Given the description of an element on the screen output the (x, y) to click on. 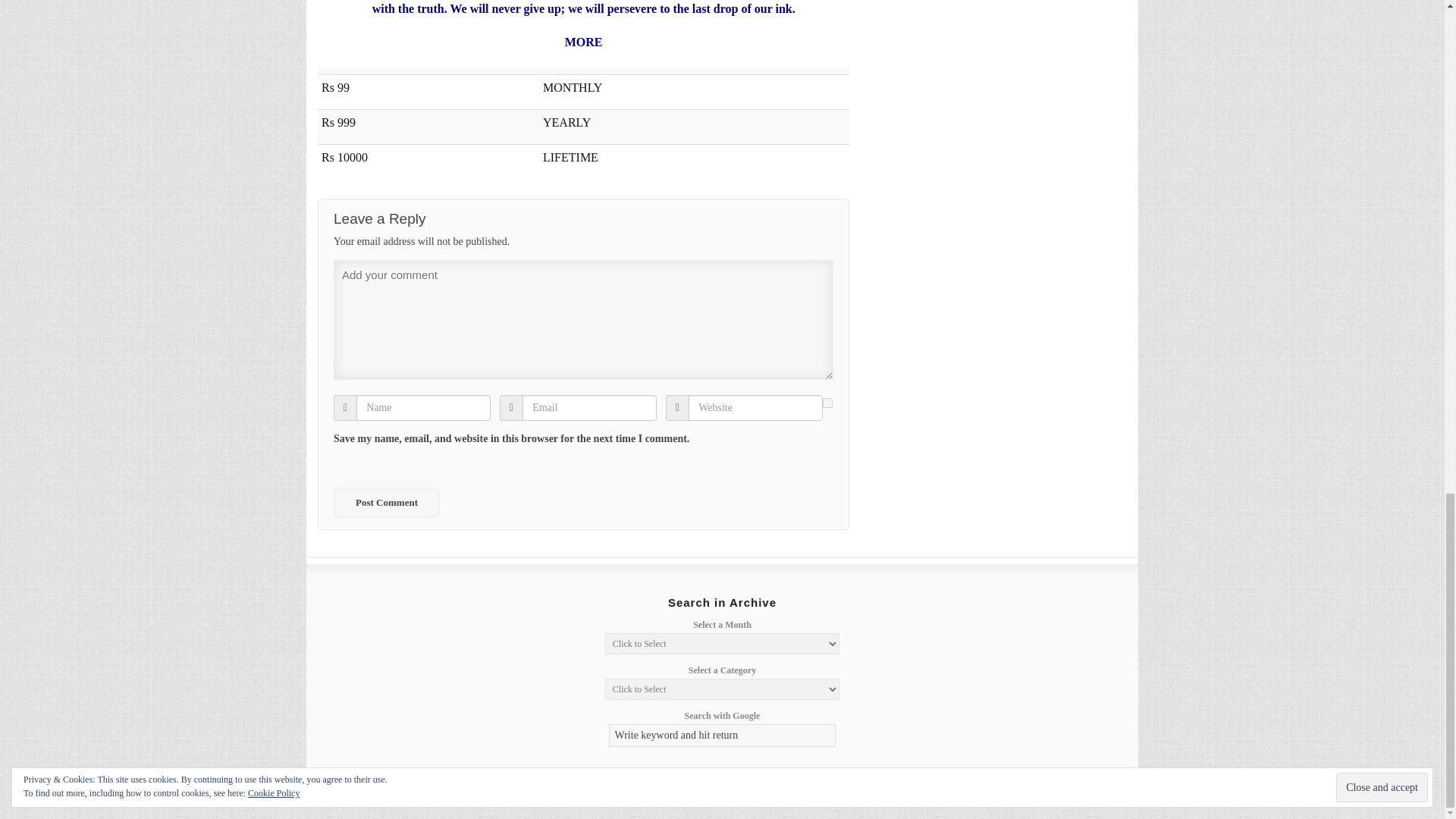
Kashmir Reader (381, 790)
Post Comment (386, 502)
yes (827, 402)
Write keyword and hit return (721, 734)
Semantic Personal Publishing Platform (1017, 790)
